Given the description of an element on the screen output the (x, y) to click on. 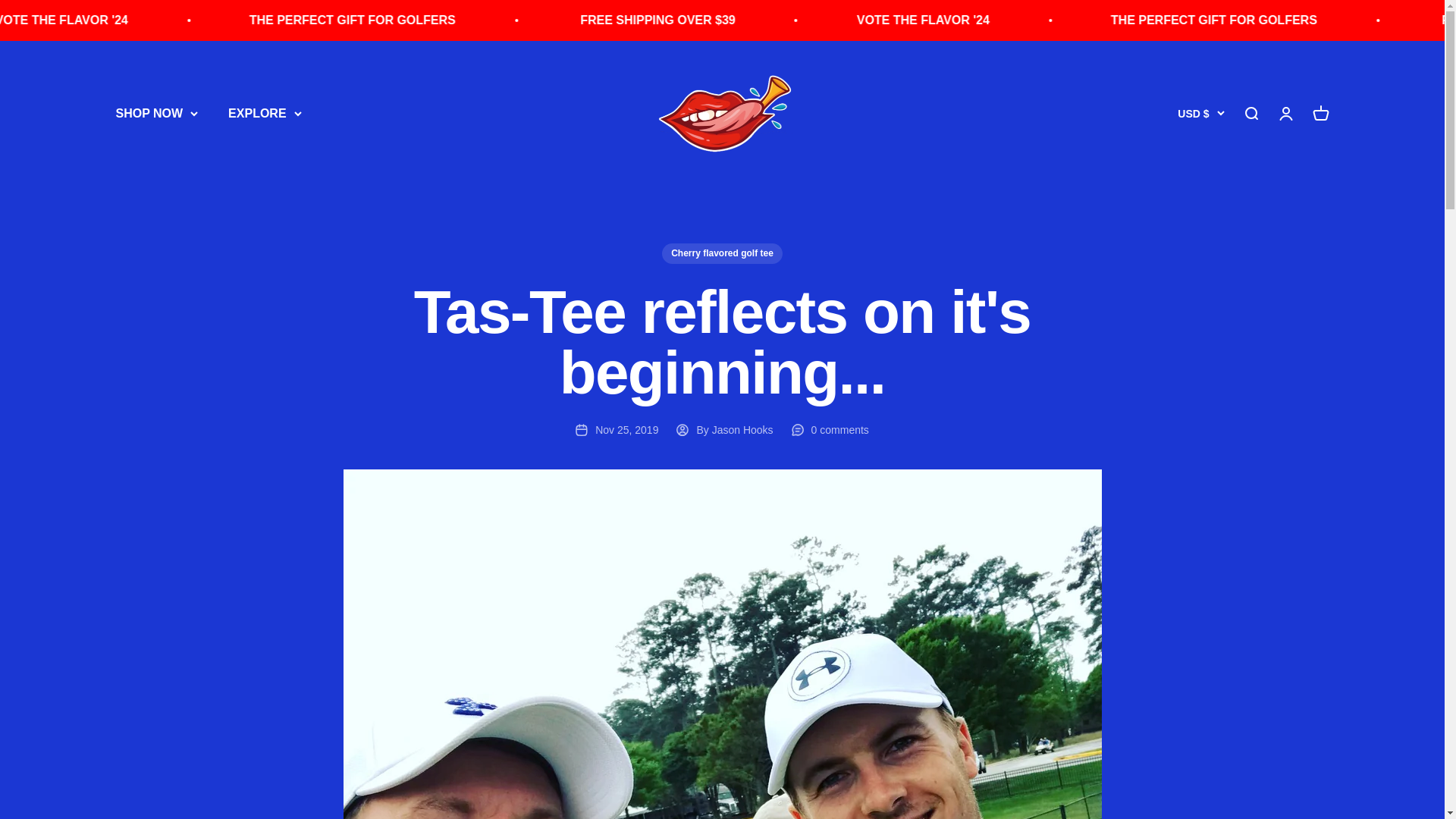
THE PERFECT GIFT FOR GOLFERS (756, 19)
VOTE THE FLAVOR '24 (470, 19)
VOTE THE FLAVOR '24 (1321, 19)
